Given the description of an element on the screen output the (x, y) to click on. 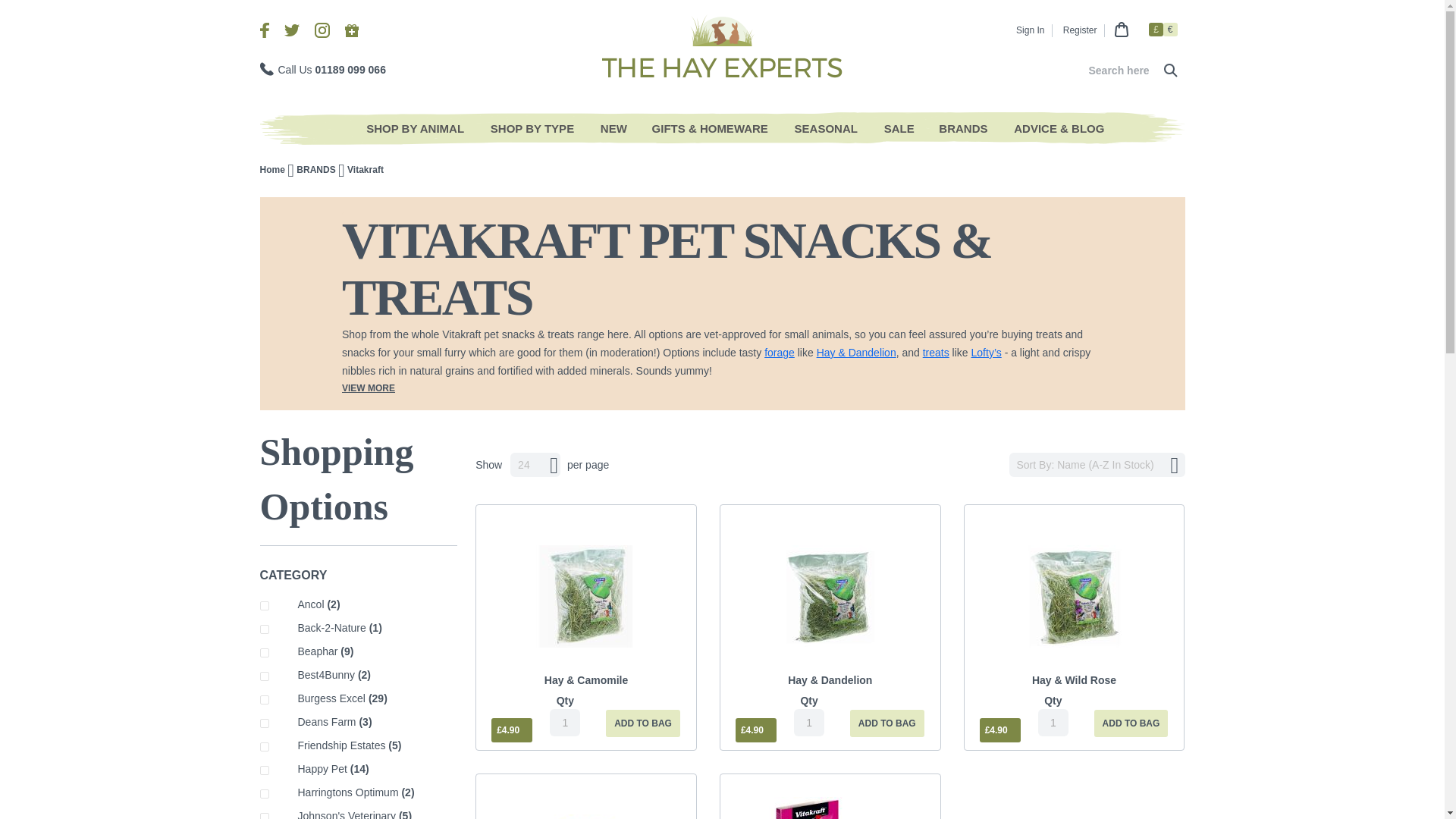
Back-2-Nature (374, 628)
Register (1079, 30)
Search (1169, 69)
1 (808, 722)
Go to Home Page (272, 169)
1 (564, 722)
Add to Bag (642, 723)
Ancol (374, 604)
Call Us 01189 099 066 (322, 69)
The Hay Experts (722, 44)
